Given the description of an element on the screen output the (x, y) to click on. 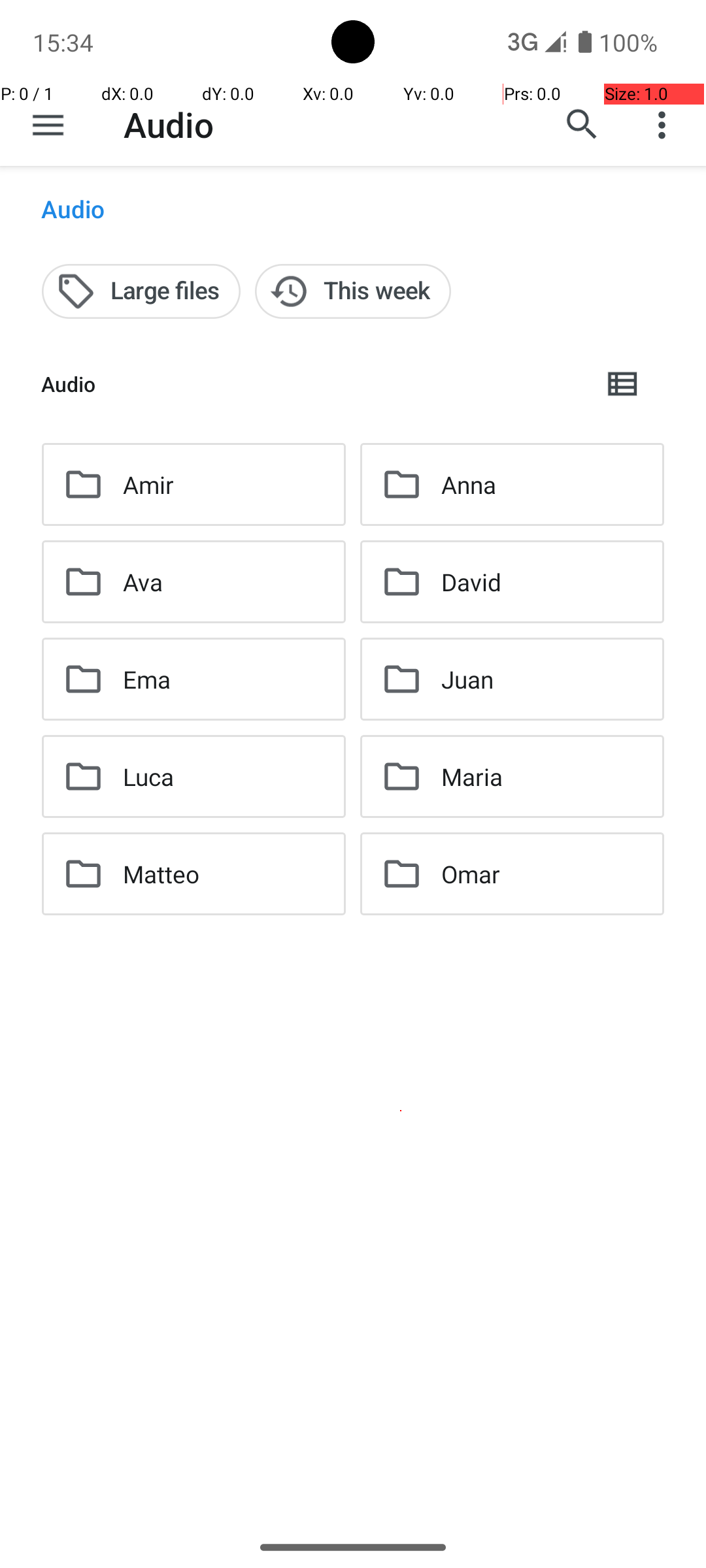
Amir Element type: android.widget.TextView (147, 484)
Anna Element type: android.widget.TextView (468, 484)
Ava Element type: android.widget.TextView (142, 581)
David Element type: android.widget.TextView (471, 581)
Ema Element type: android.widget.TextView (146, 678)
Juan Element type: android.widget.TextView (467, 678)
Luca Element type: android.widget.TextView (148, 776)
Maria Element type: android.widget.TextView (471, 776)
Matteo Element type: android.widget.TextView (160, 873)
Omar Element type: android.widget.TextView (470, 873)
